Given the description of an element on the screen output the (x, y) to click on. 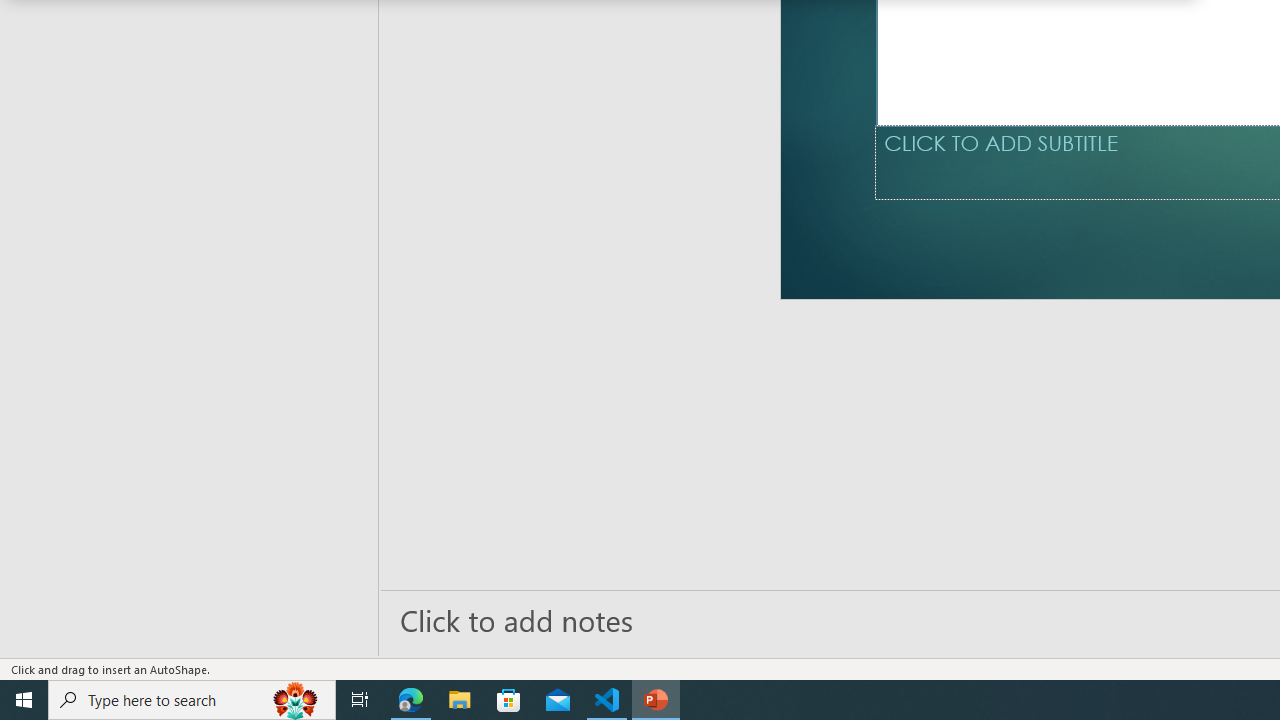
Microsoft Edge - 1 running window (411, 699)
